Given the description of an element on the screen output the (x, y) to click on. 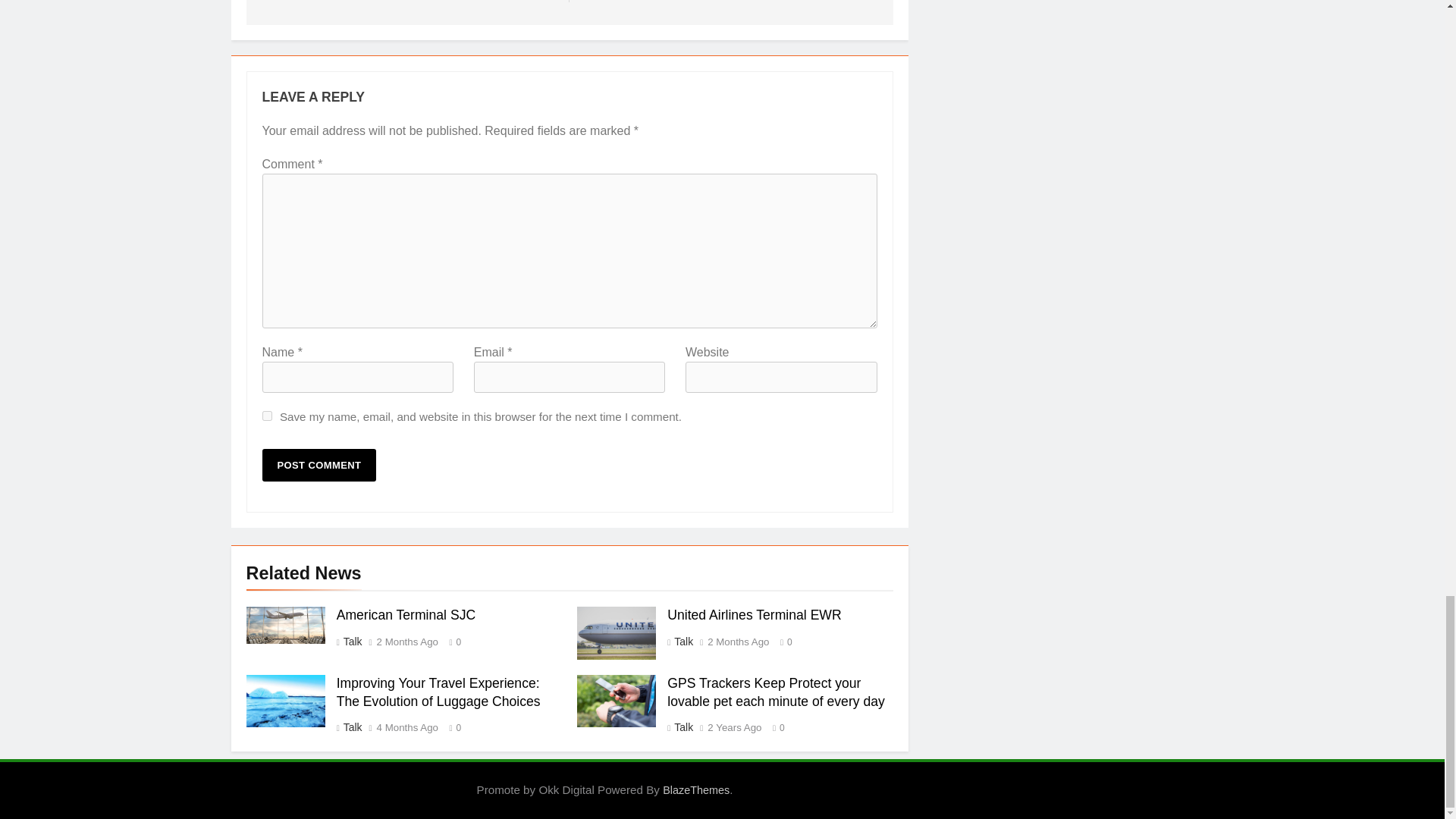
Post Comment (319, 464)
yes (267, 415)
